Given the description of an element on the screen output the (x, y) to click on. 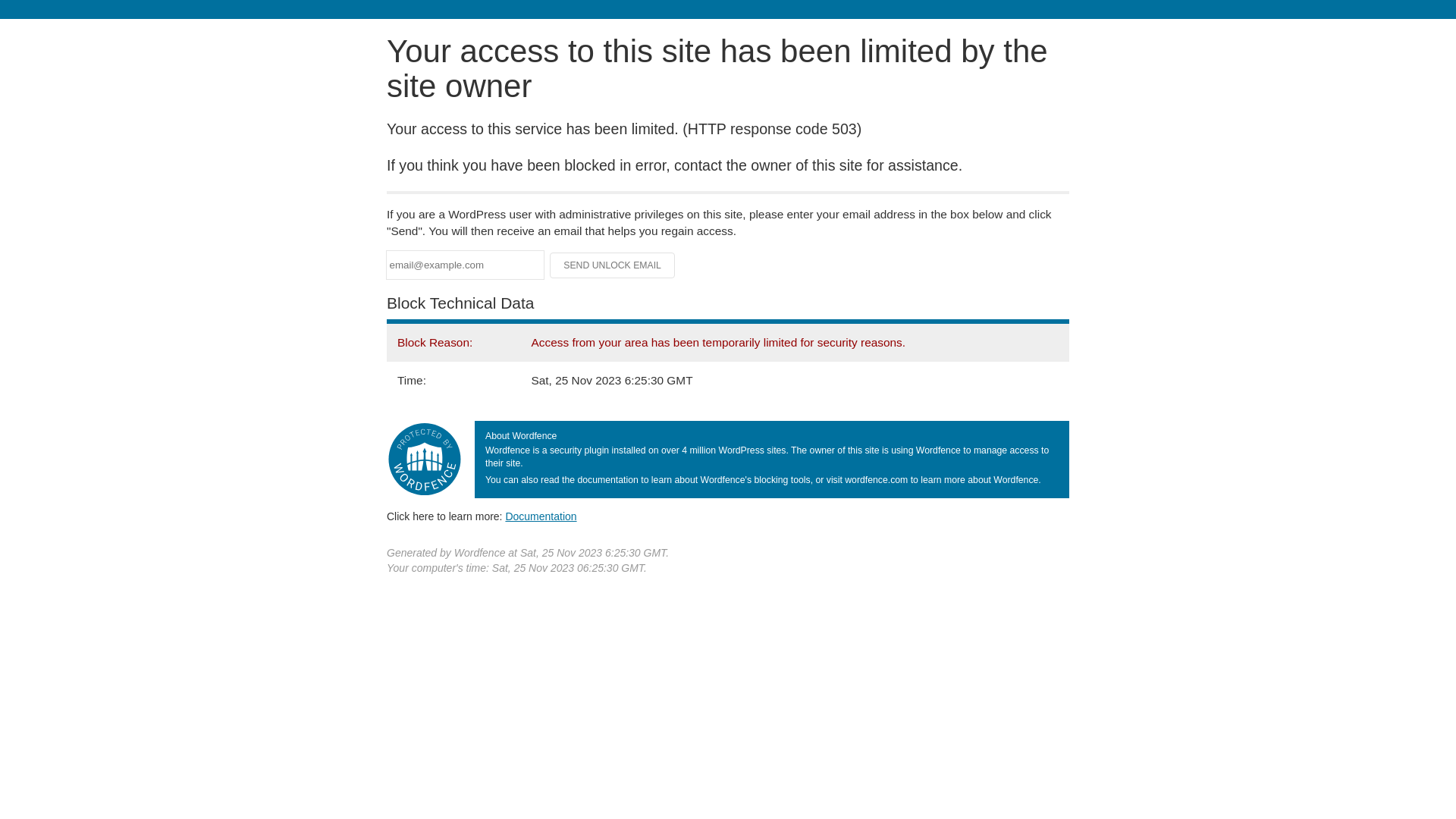
Documentation Element type: text (540, 516)
Send Unlock Email Element type: text (612, 265)
